Given the description of an element on the screen output the (x, y) to click on. 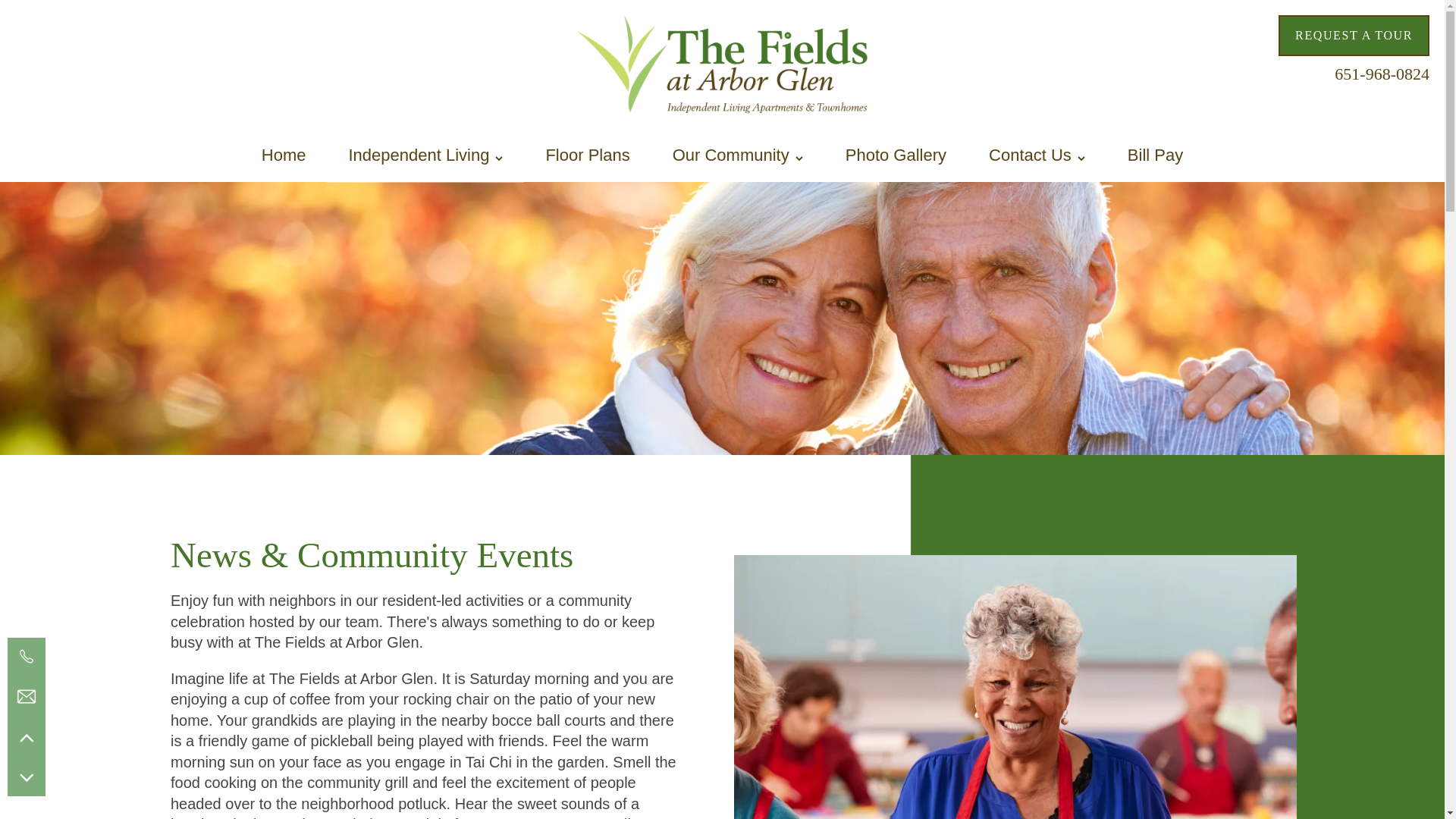
REQUEST A TOUR (1353, 35)
651-968-0824 (1382, 71)
Property Phone Number (1382, 71)
Floor Plans (587, 154)
Phone Number (26, 656)
Contact Us (1037, 154)
Photo Gallery (896, 154)
Scroll Down (26, 777)
Our Community (737, 154)
Independent Living (425, 154)
